Given the description of an element on the screen output the (x, y) to click on. 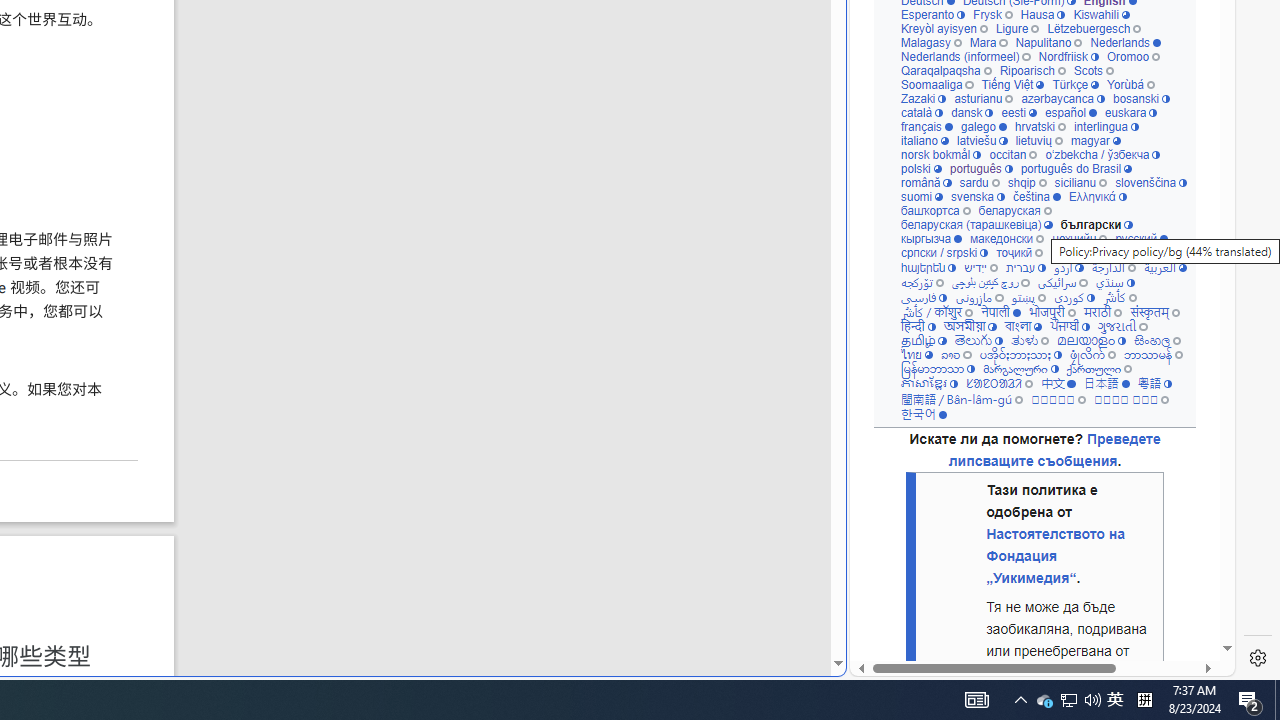
Malagasy (930, 42)
Ripoarisch (1032, 70)
Nordfriisk (1068, 56)
asturianu (983, 97)
